Given the description of an element on the screen output the (x, y) to click on. 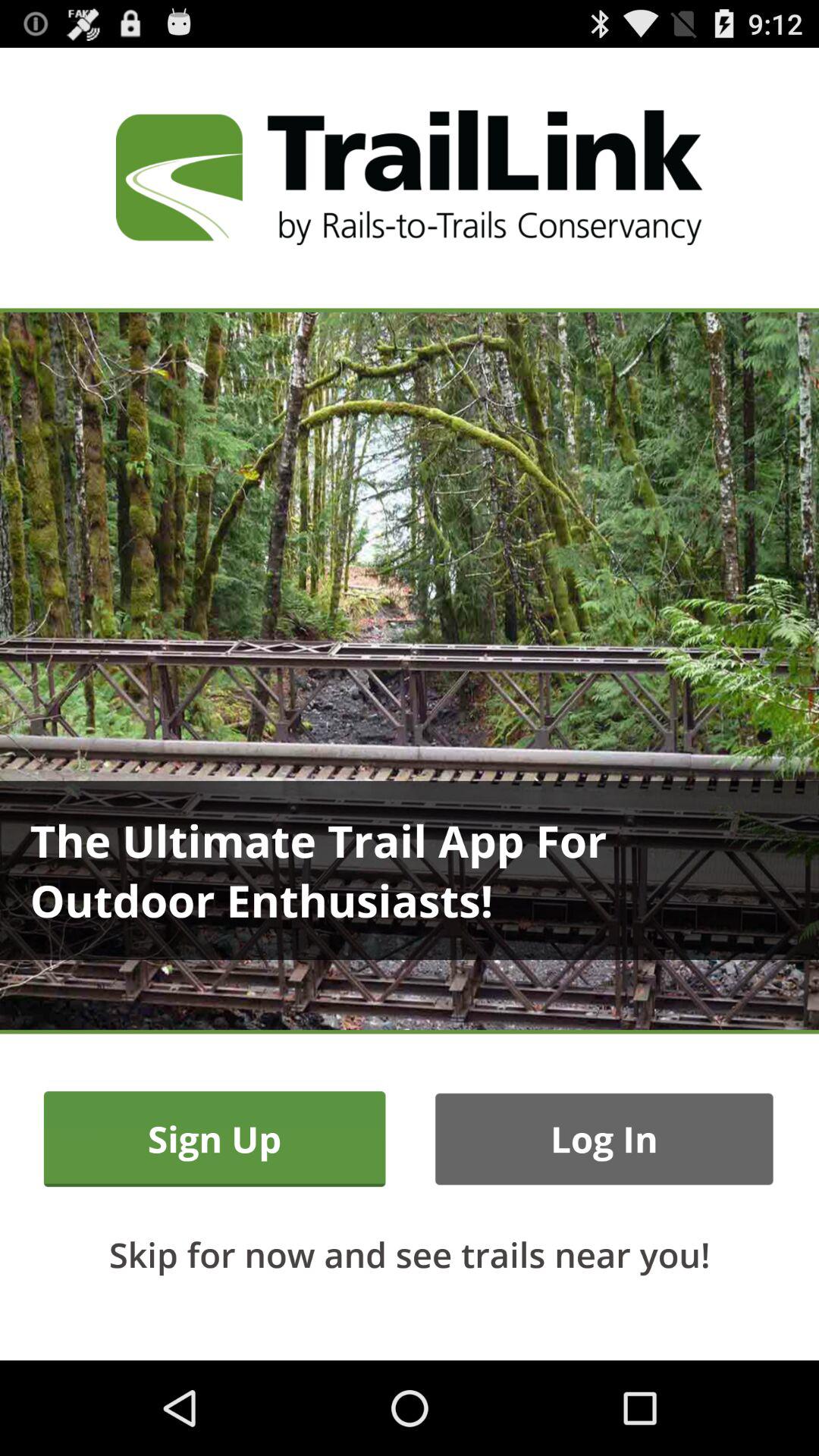
turn on icon above skip for now (214, 1138)
